Given the description of an element on the screen output the (x, y) to click on. 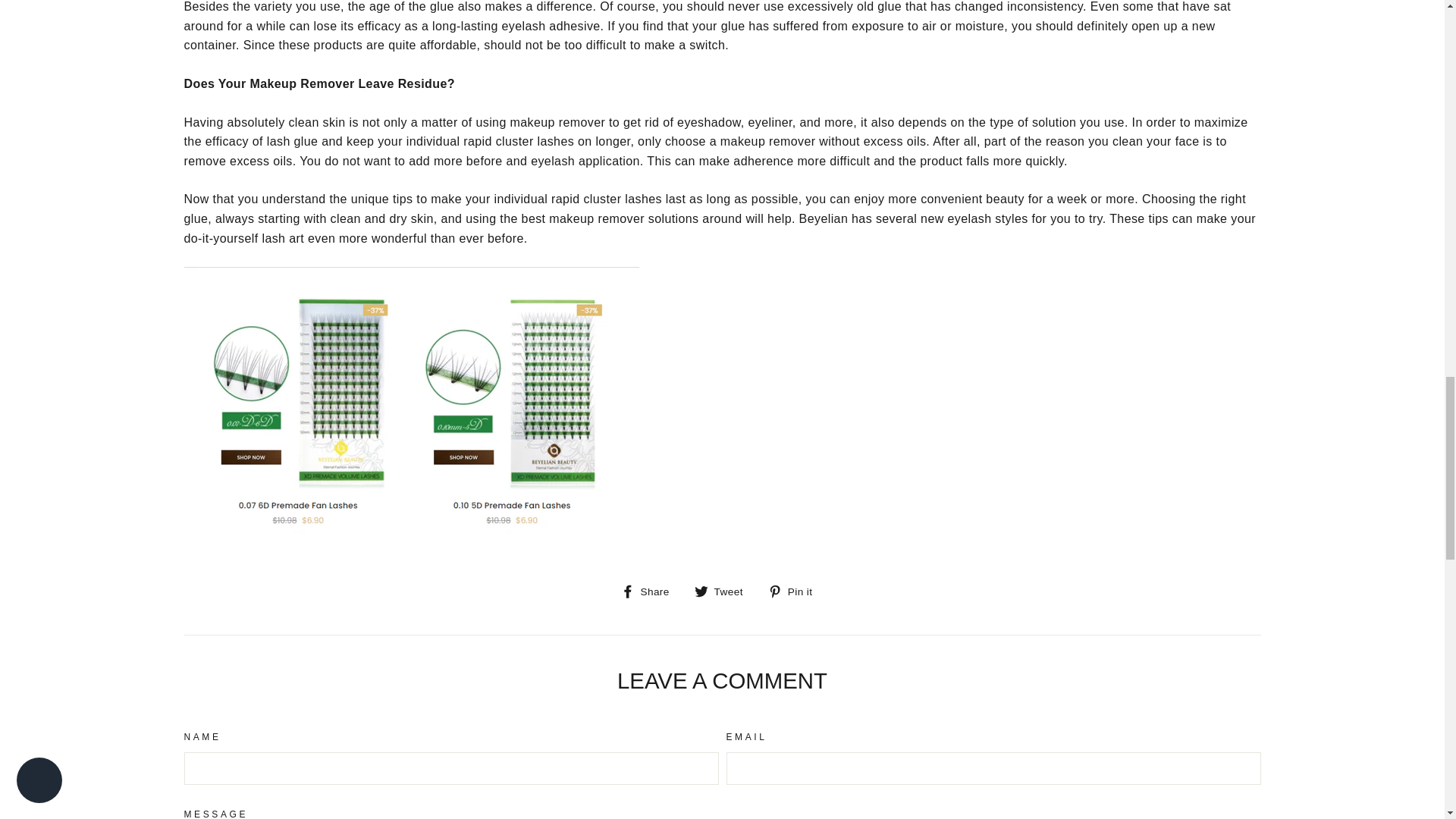
Share on Facebook (651, 591)
Tweet on Twitter (724, 591)
Pin on Pinterest (796, 591)
